Given the description of an element on the screen output the (x, y) to click on. 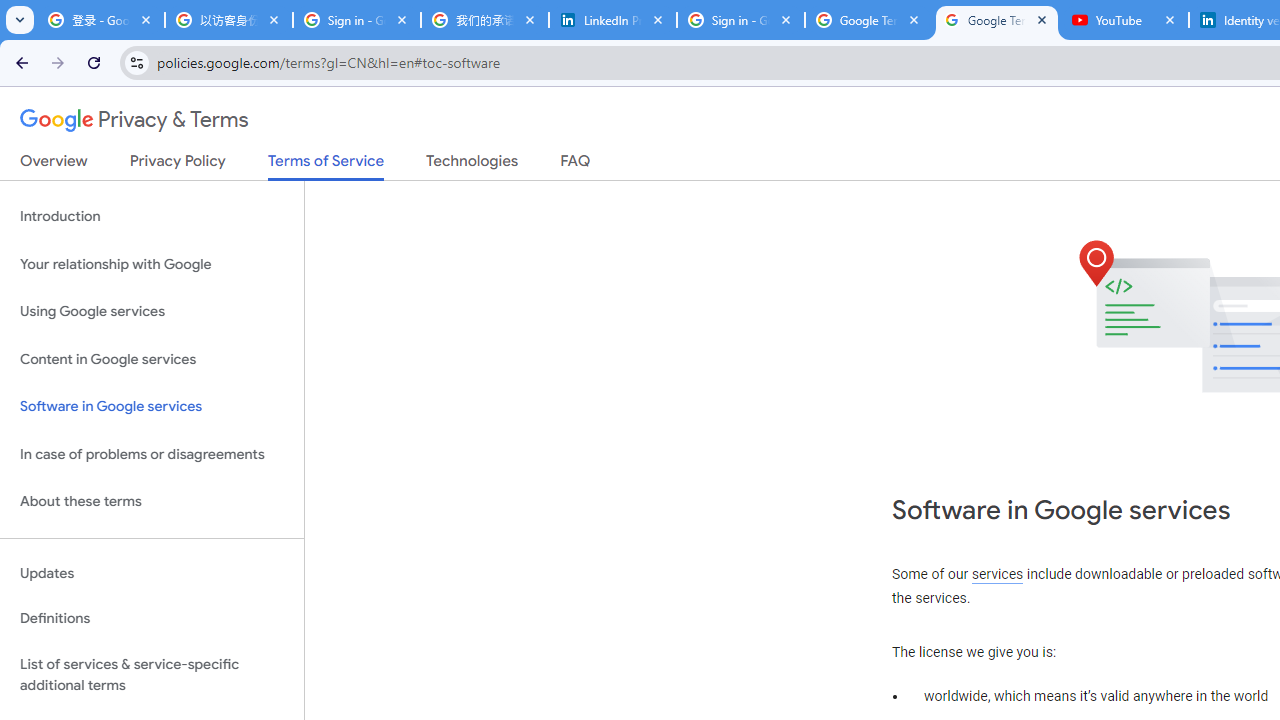
About these terms (152, 502)
Software in Google services (152, 407)
Your relationship with Google (152, 263)
Using Google services (152, 312)
Sign in - Google Accounts (741, 20)
